Given the description of an element on the screen output the (x, y) to click on. 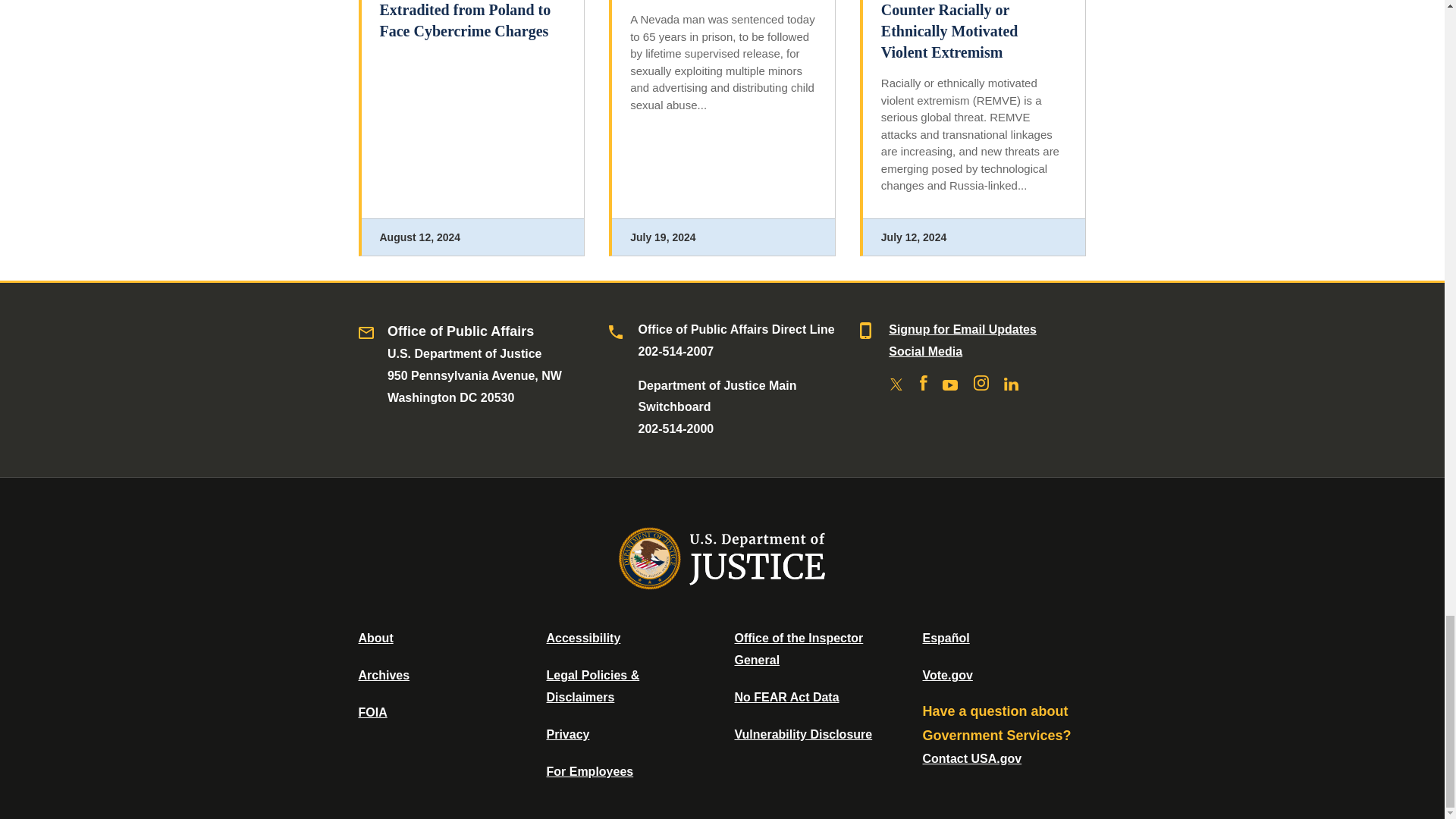
Legal Policies and Disclaimers (592, 686)
About DOJ (375, 637)
Data Posted Pursuant To The No Fear Act (785, 697)
For Employees (589, 771)
Department of Justice Archive (383, 675)
Office of Information Policy (372, 712)
Accessibility Statement (583, 637)
